Given the description of an element on the screen output the (x, y) to click on. 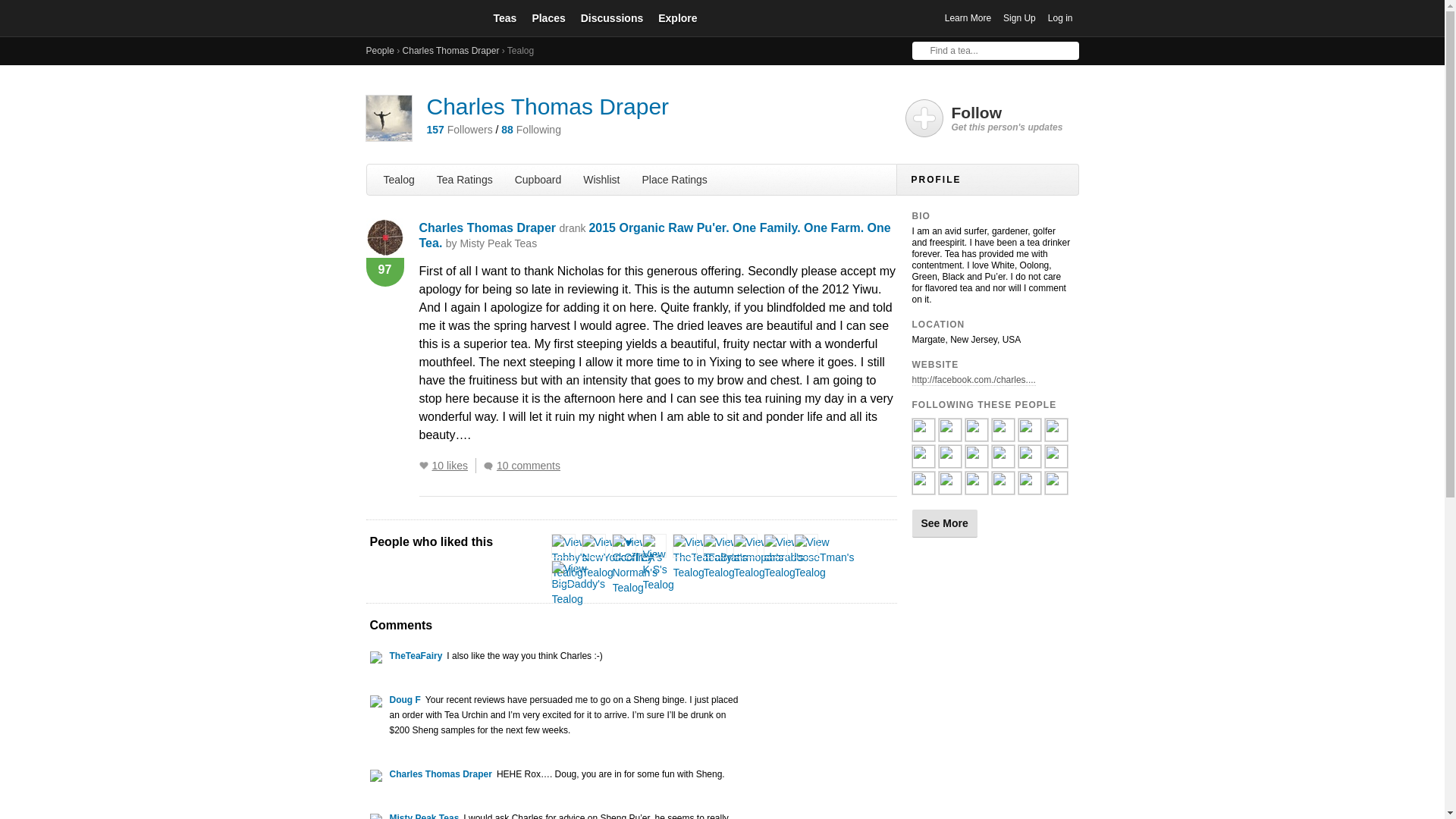
Places (547, 17)
Tea Ratings (465, 179)
People (379, 50)
Charles Thomas Draper (451, 50)
Wishlist (600, 179)
Discussions (612, 17)
157 Followers (459, 129)
I Like This (423, 465)
10 comments (525, 465)
Charles Thomas Draper (487, 227)
